Given the description of an element on the screen output the (x, y) to click on. 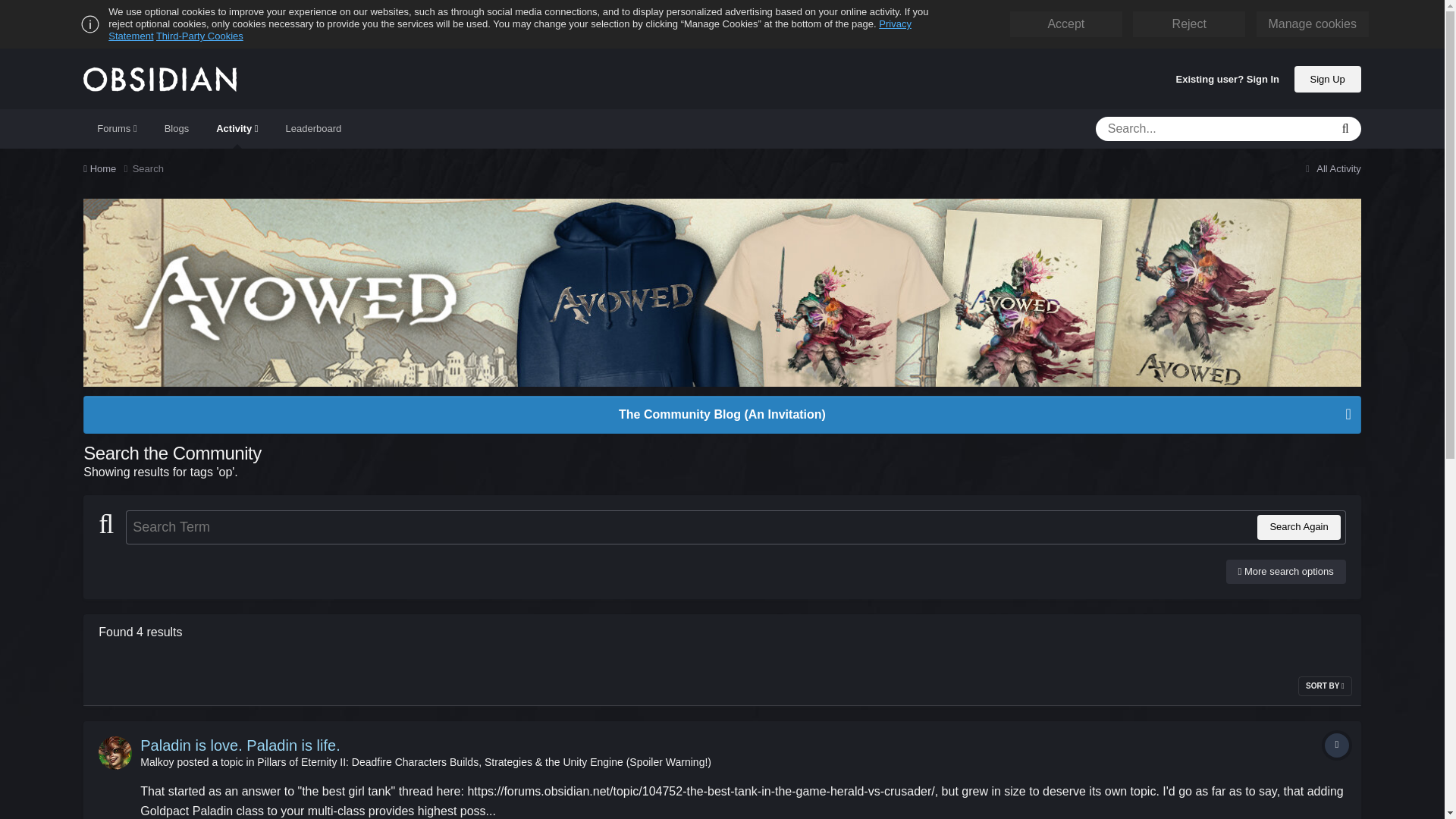
Third-Party Cookies (199, 35)
Home (107, 168)
Reject (1189, 23)
Existing user? Sign In (1227, 79)
Accept (1065, 23)
Activity (236, 128)
All Activity (1331, 168)
Forums (115, 128)
Go to Malkoy's profile (156, 761)
Manage cookies (1312, 23)
Sign Up (1326, 78)
Leaderboard (313, 128)
Topic (1336, 745)
Privacy Statement (509, 29)
Blogs (177, 128)
